Given the description of an element on the screen output the (x, y) to click on. 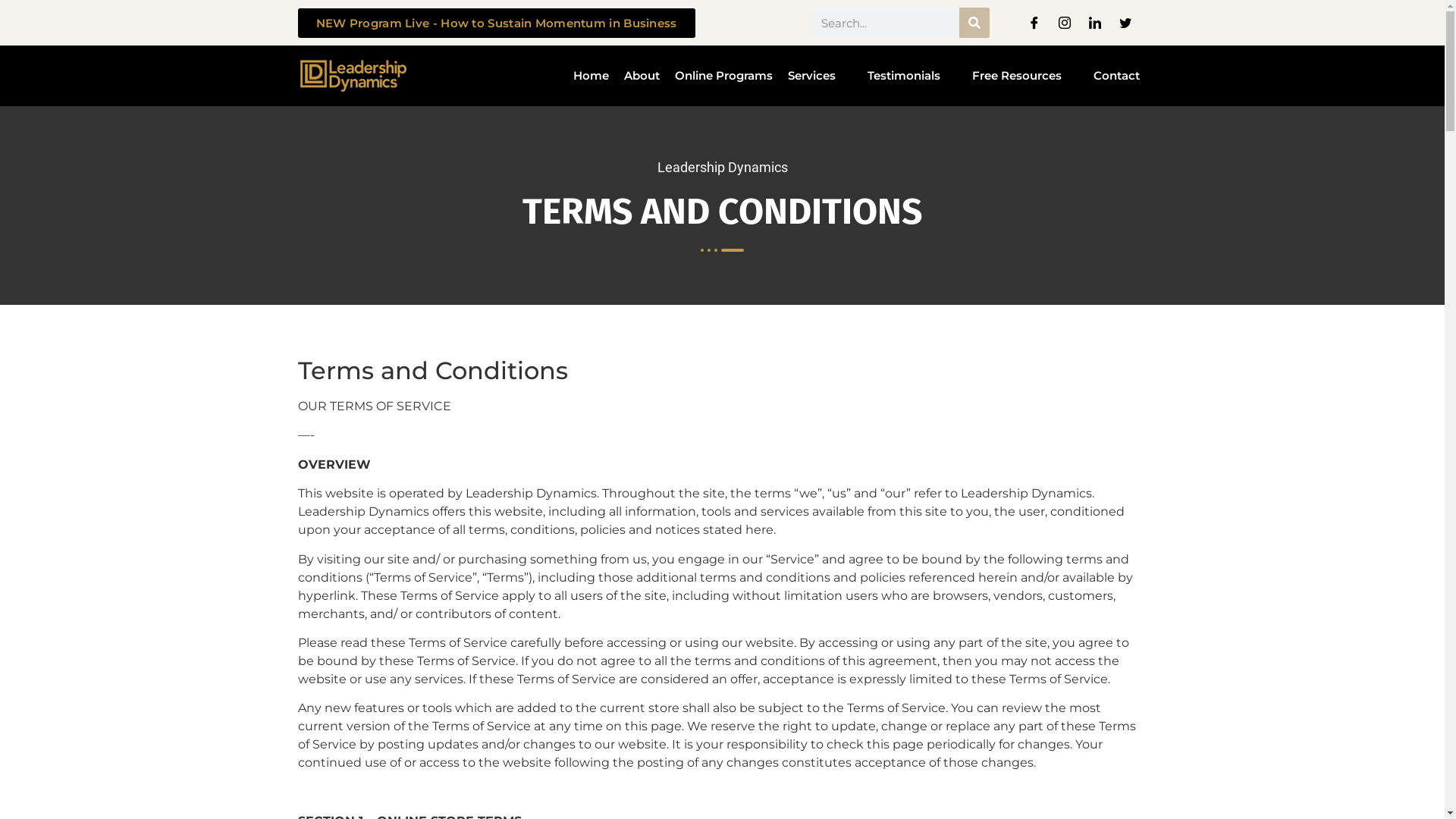
Home Element type: text (590, 75)
Online Programs Element type: text (723, 75)
NEW Program Live - How to Sustain Momentum in Business Element type: text (495, 22)
Testimonials Element type: text (911, 75)
Contact Element type: text (1116, 75)
About Element type: text (640, 75)
Free Resources Element type: text (1024, 75)
Services Element type: text (819, 75)
